Given the description of an element on the screen output the (x, y) to click on. 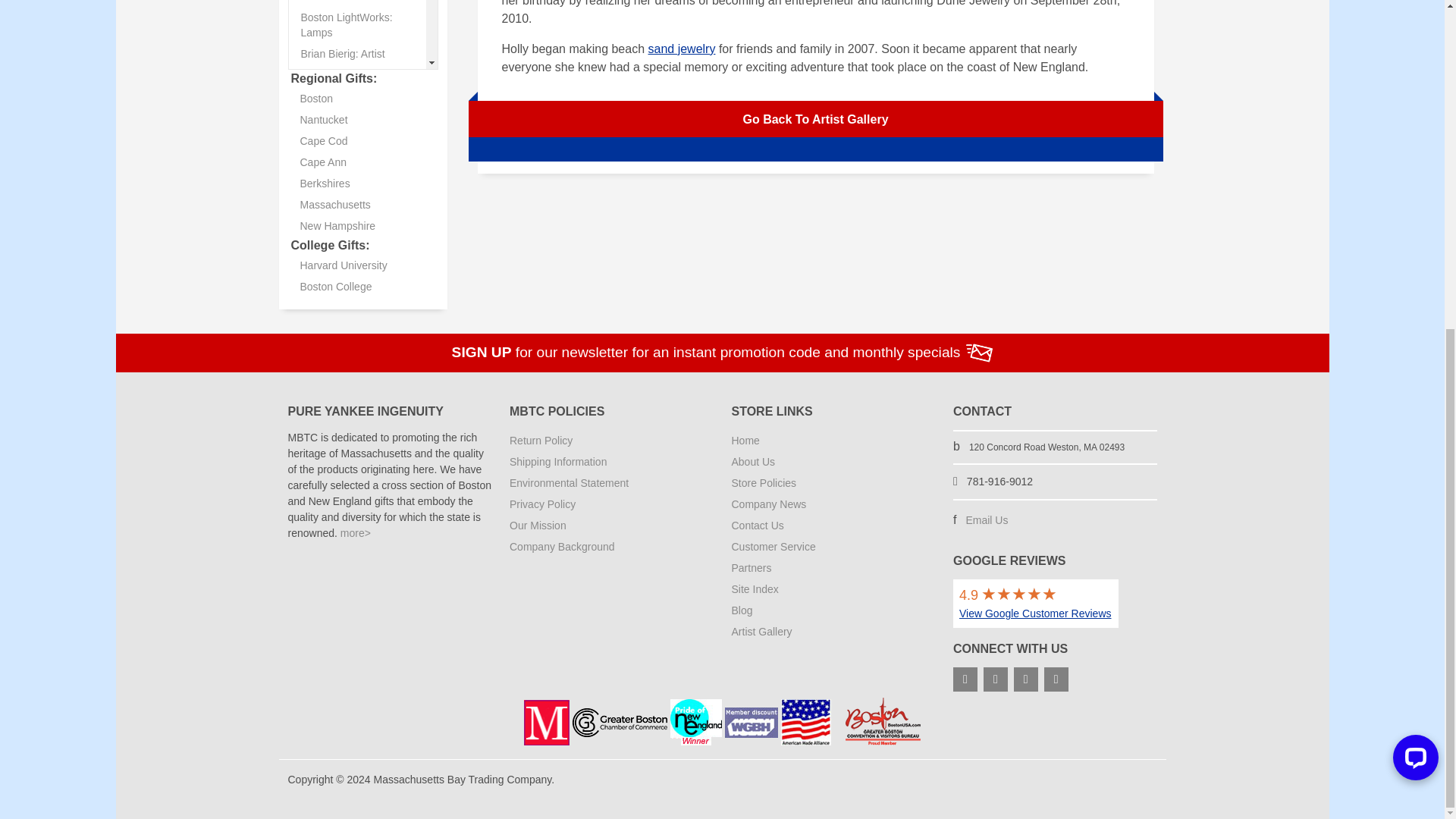
Pinterest (1055, 679)
American Made Alliance (805, 722)
MBTC logo (546, 721)
Member Greater Boston Chamber of Commerce (619, 722)
Winner of the Pride of New England award (695, 722)
Facebook (964, 679)
Twitter (995, 679)
Google Customer Reviews Rating is 4.9 out of 5. (1035, 603)
Instagram (1025, 679)
Newsletter Signup (979, 352)
